Given the description of an element on the screen output the (x, y) to click on. 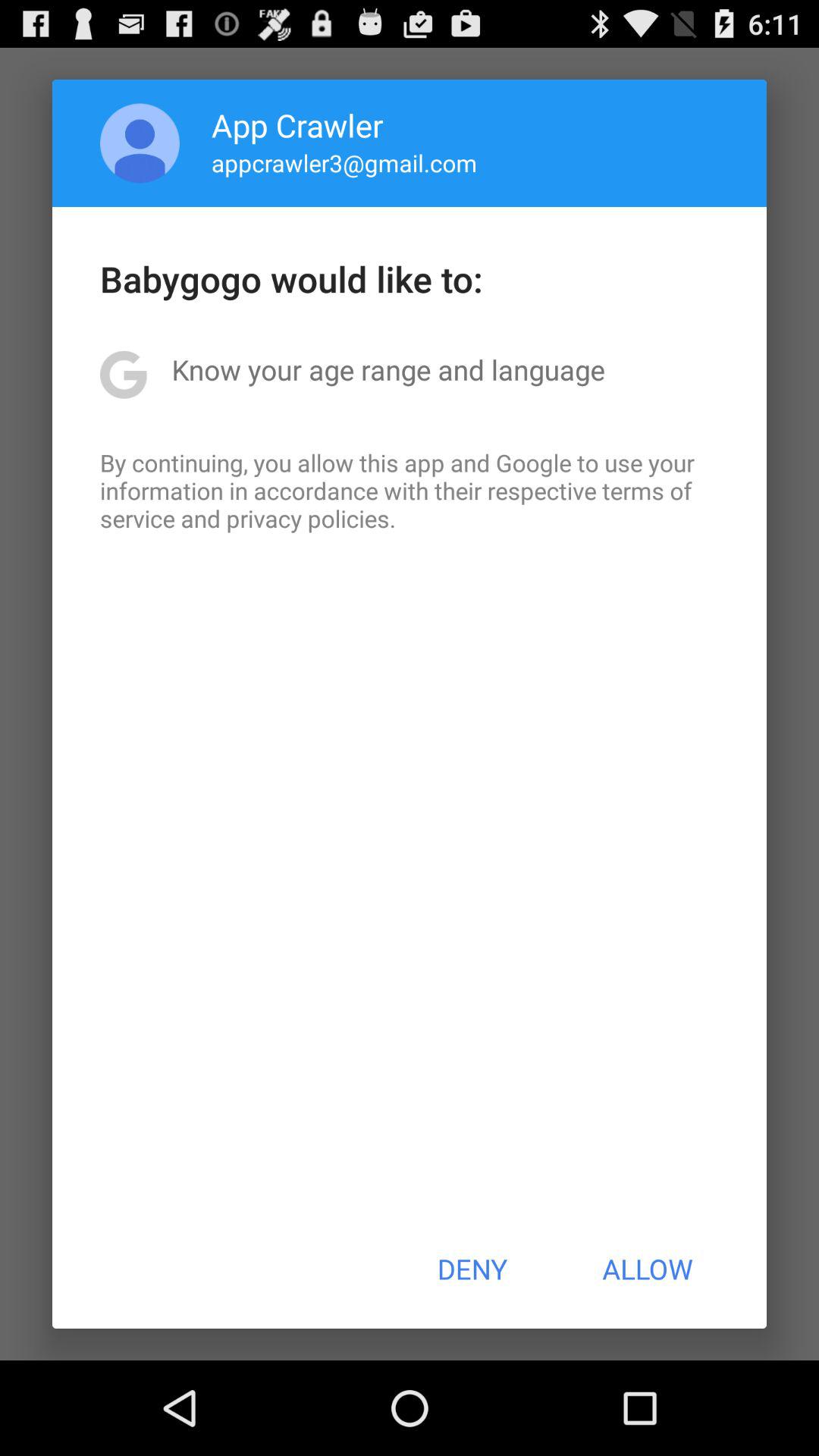
choose the item below the app crawler (344, 162)
